Given the description of an element on the screen output the (x, y) to click on. 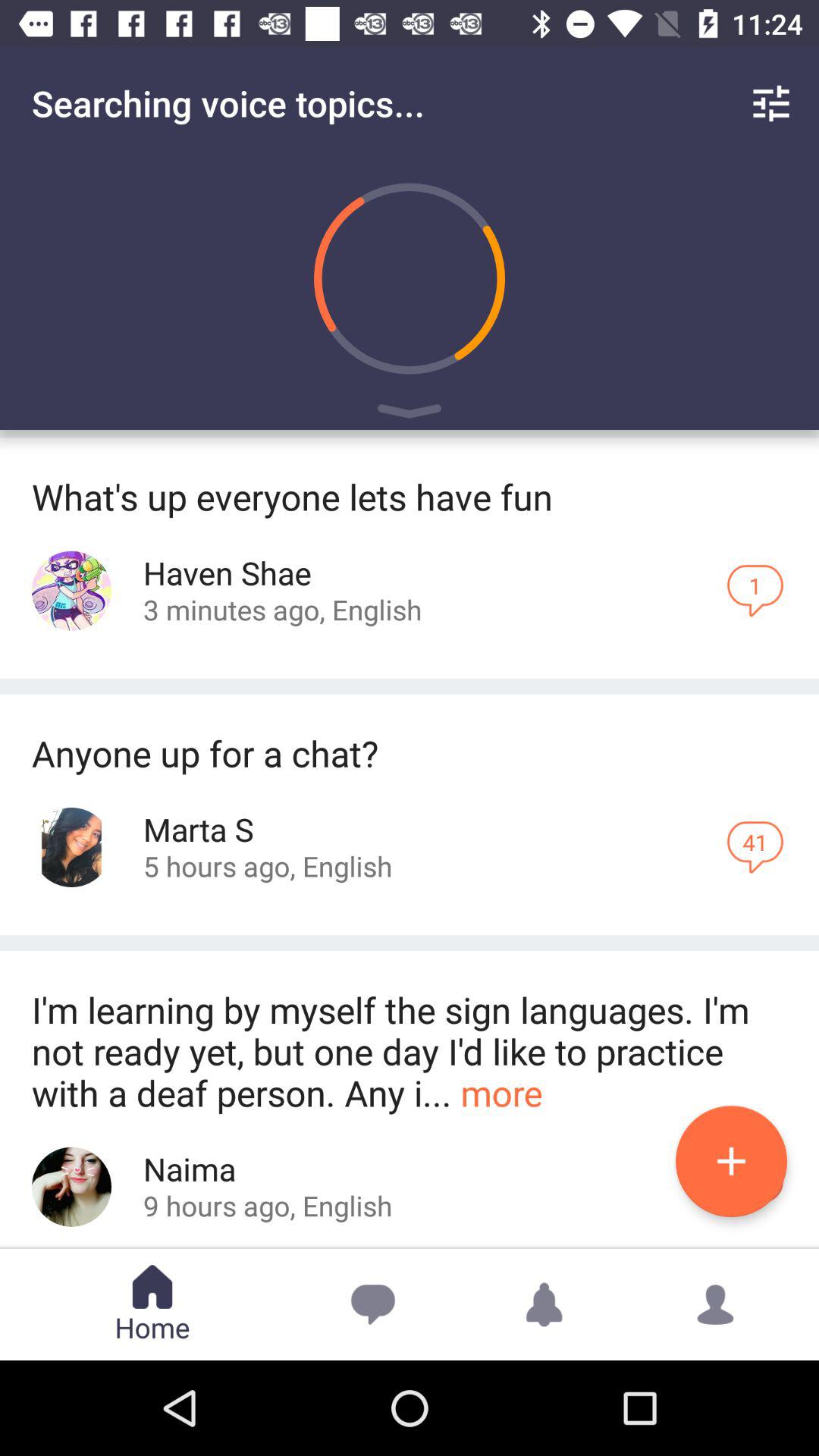
open 'marta s profile (71, 847)
